Given the description of an element on the screen output the (x, y) to click on. 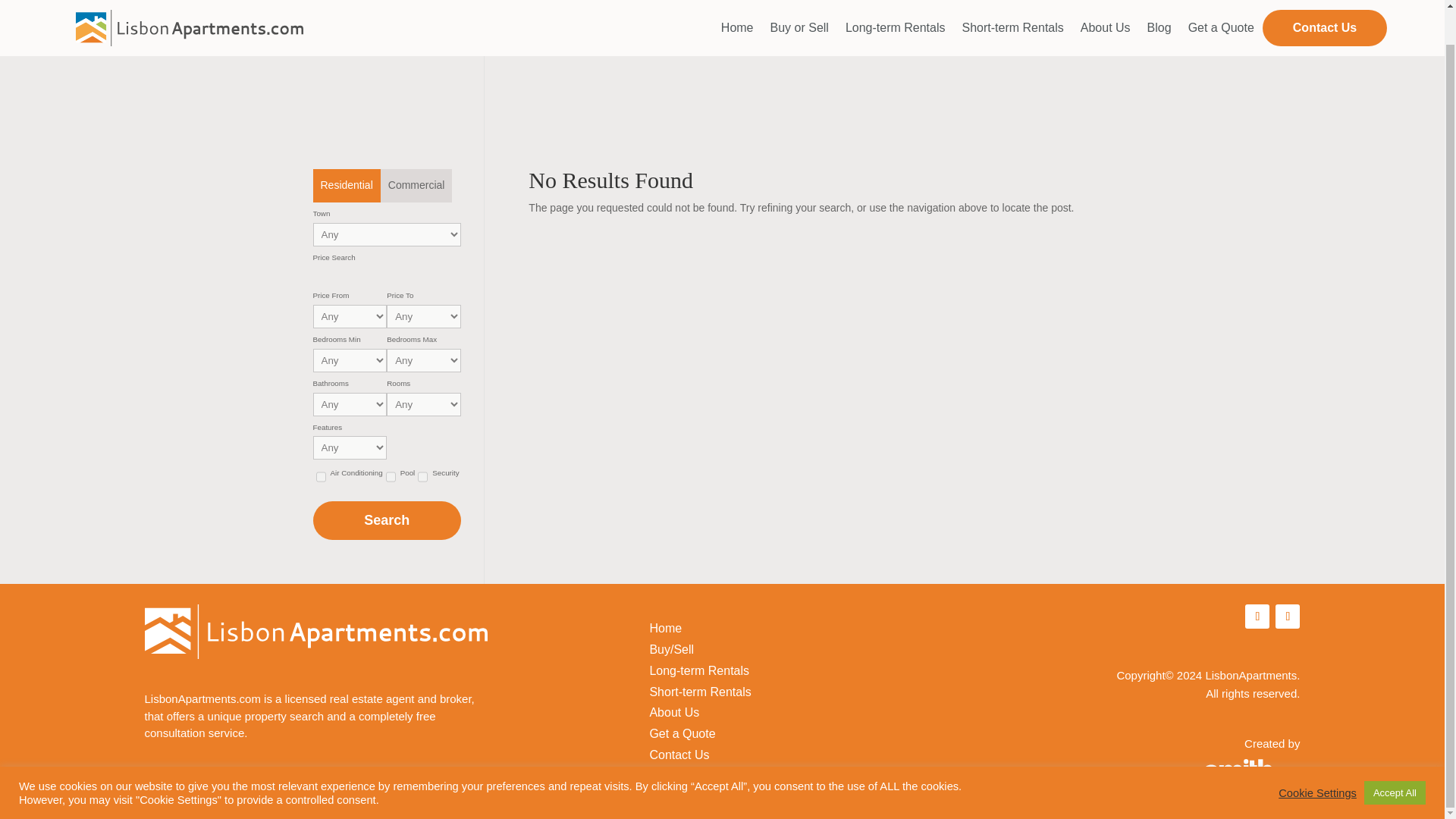
Cookie Settings (1317, 756)
LA-logo-whiteout-final (315, 631)
Follow on Facebook (1256, 616)
Search (386, 520)
Search (386, 520)
Accept All (1394, 757)
Follow on X (1287, 616)
eagle8-logo-new (1248, 778)
Search (386, 520)
